Given the description of an element on the screen output the (x, y) to click on. 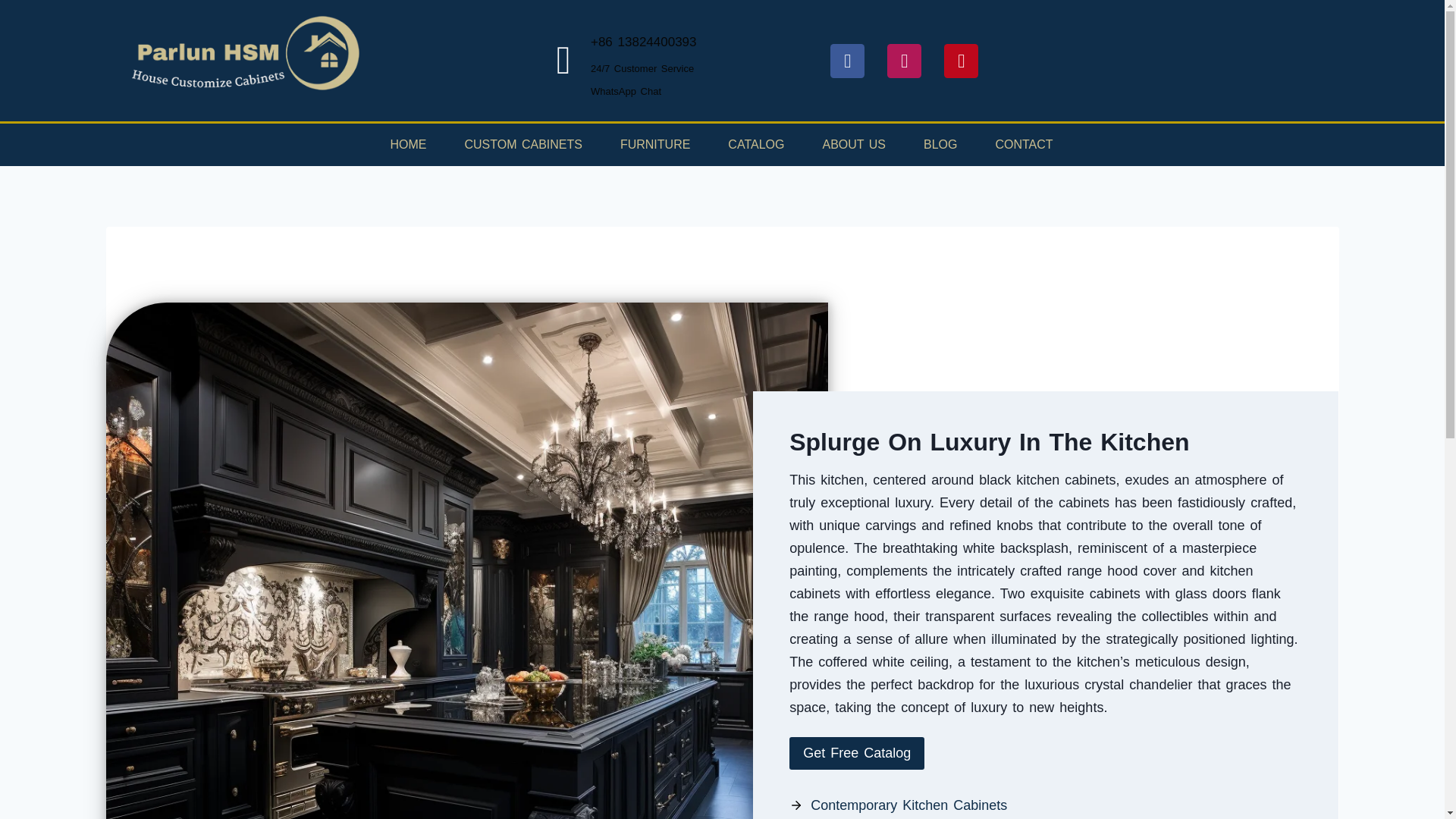
CUSTOM CABINETS (523, 144)
HOME (408, 144)
FURNITURE (655, 144)
